Given the description of an element on the screen output the (x, y) to click on. 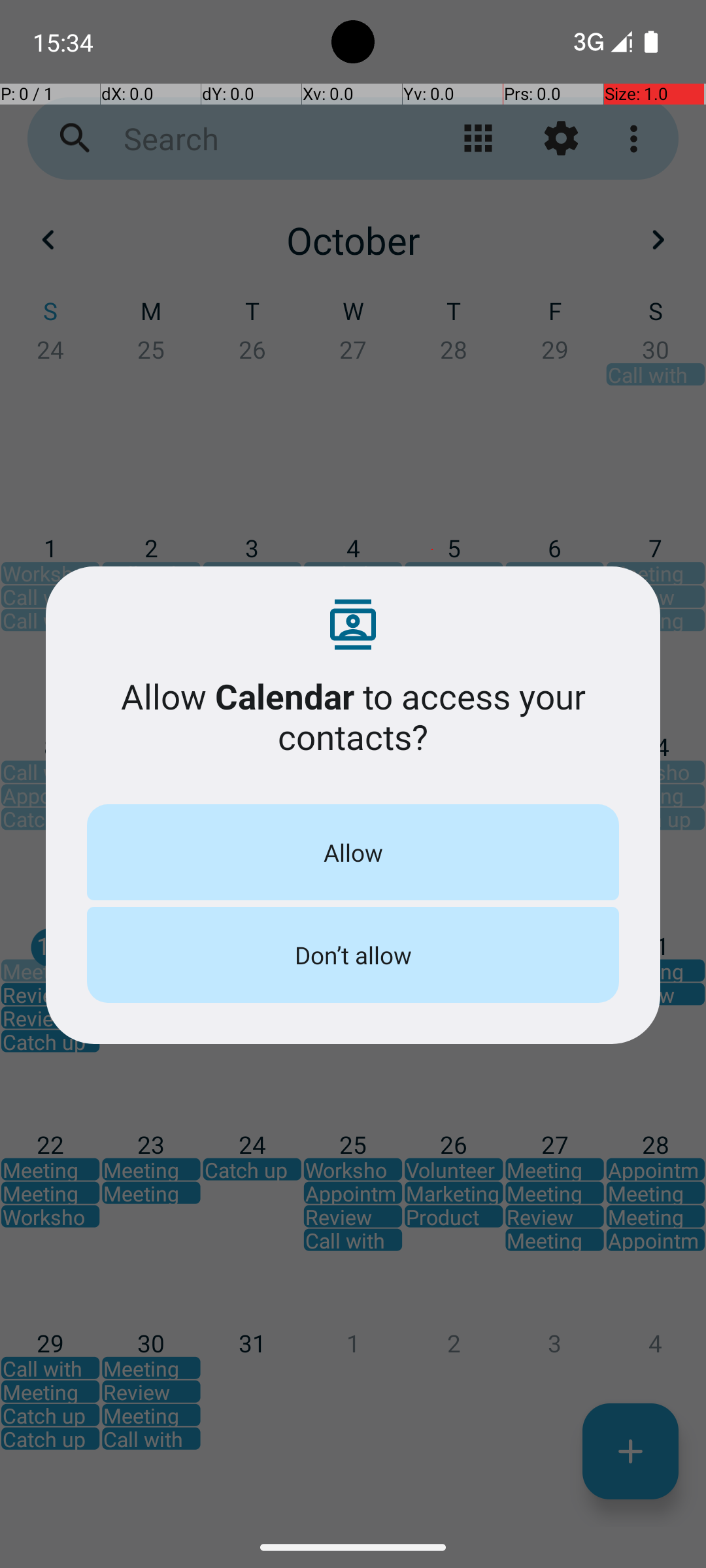
Allow Calendar to access your contacts? Element type: android.widget.TextView (352, 715)
